Given the description of an element on the screen output the (x, y) to click on. 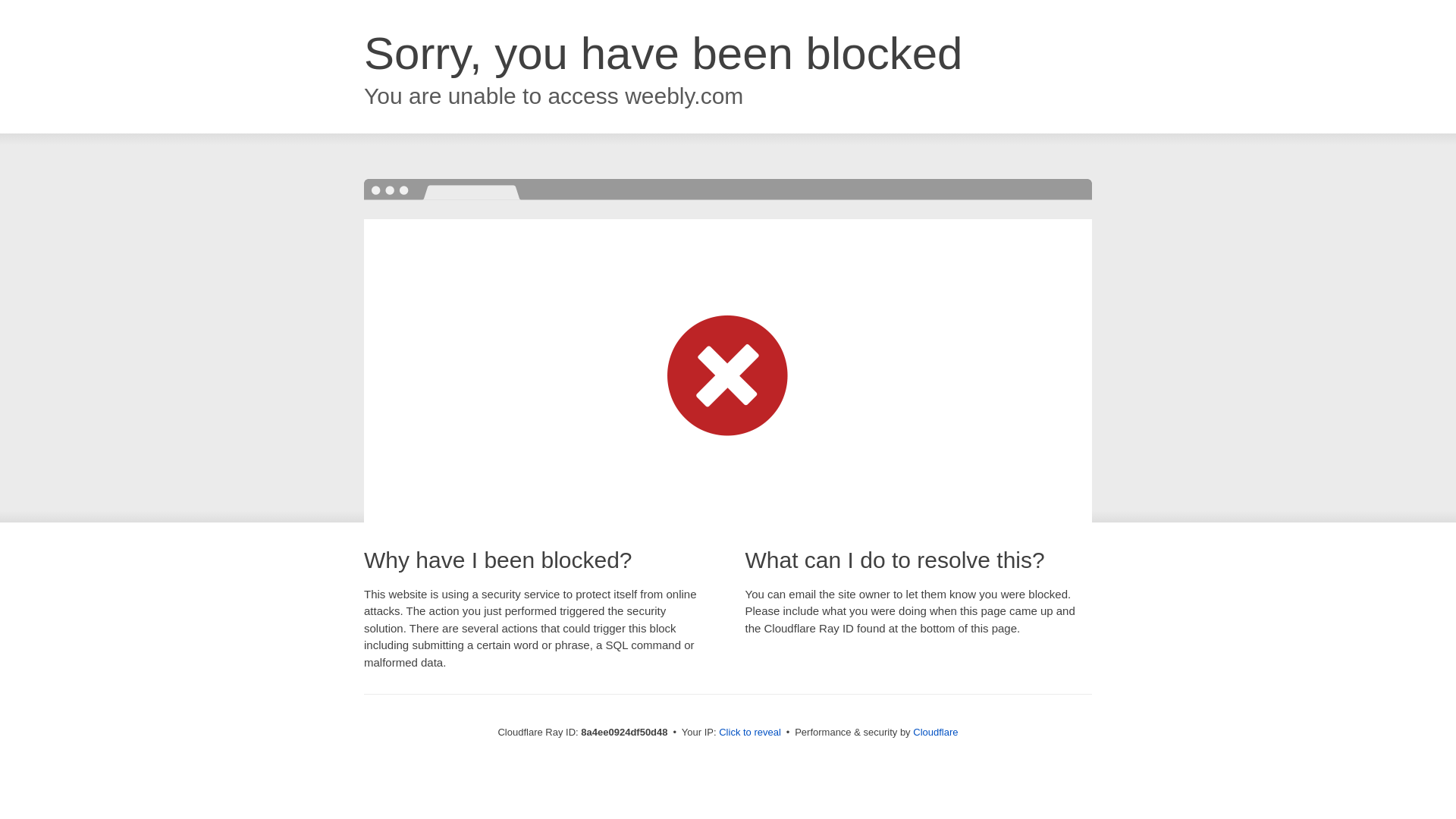
Cloudflare (935, 731)
Click to reveal (749, 732)
